Given the description of an element on the screen output the (x, y) to click on. 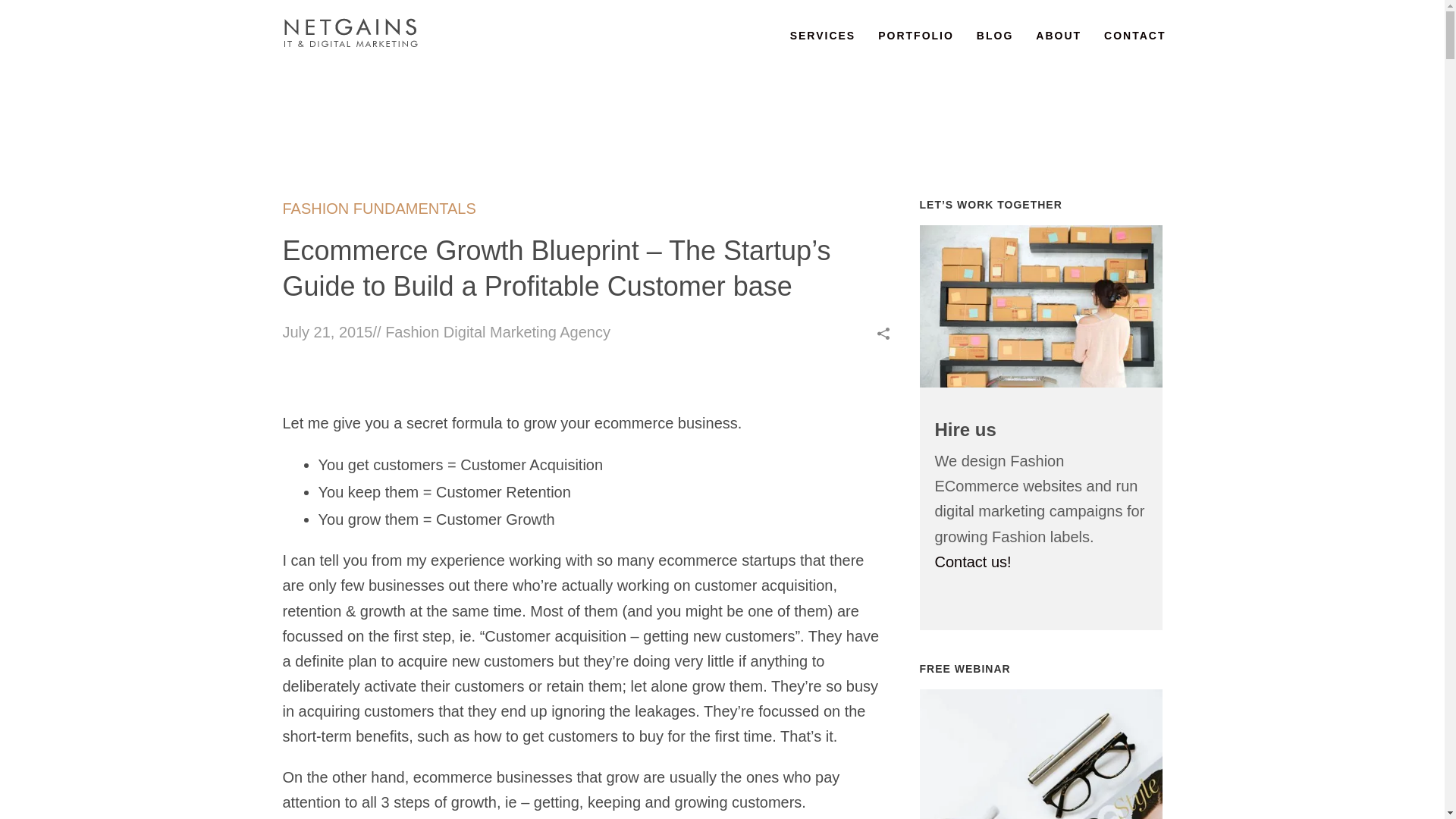
SERVICES (822, 35)
Posts by Fashion Digital Marketing Agency (497, 331)
PORTFOLIO (915, 35)
SERVICES (822, 35)
BLOG (995, 35)
Get in touch! (1039, 768)
Get in touch! (1039, 304)
ABOUT (1059, 35)
CONTACT (1134, 35)
PORTFOLIO (915, 35)
CONTACT (1134, 35)
ABOUT (1059, 35)
BLOG (995, 35)
